Given the description of an element on the screen output the (x, y) to click on. 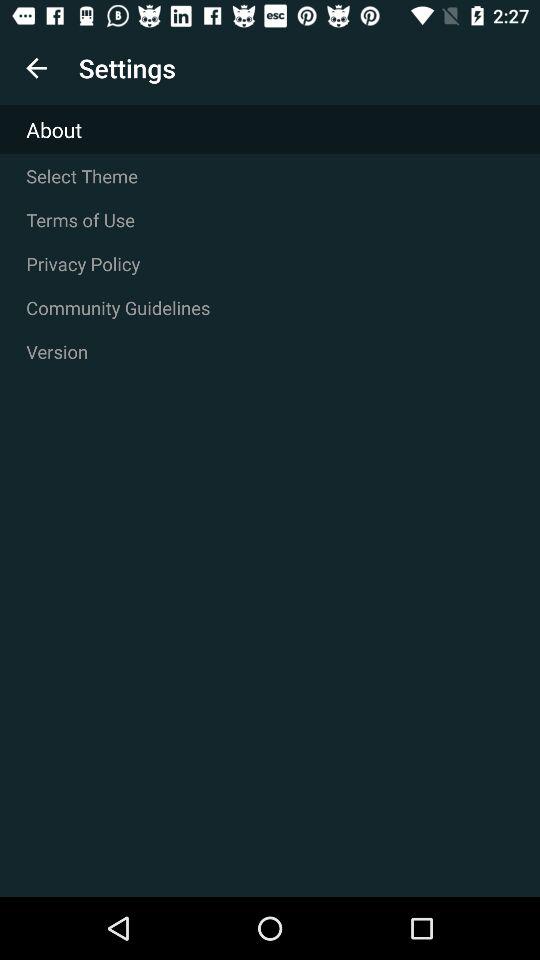
choose item above the community guidelines icon (270, 263)
